Given the description of an element on the screen output the (x, y) to click on. 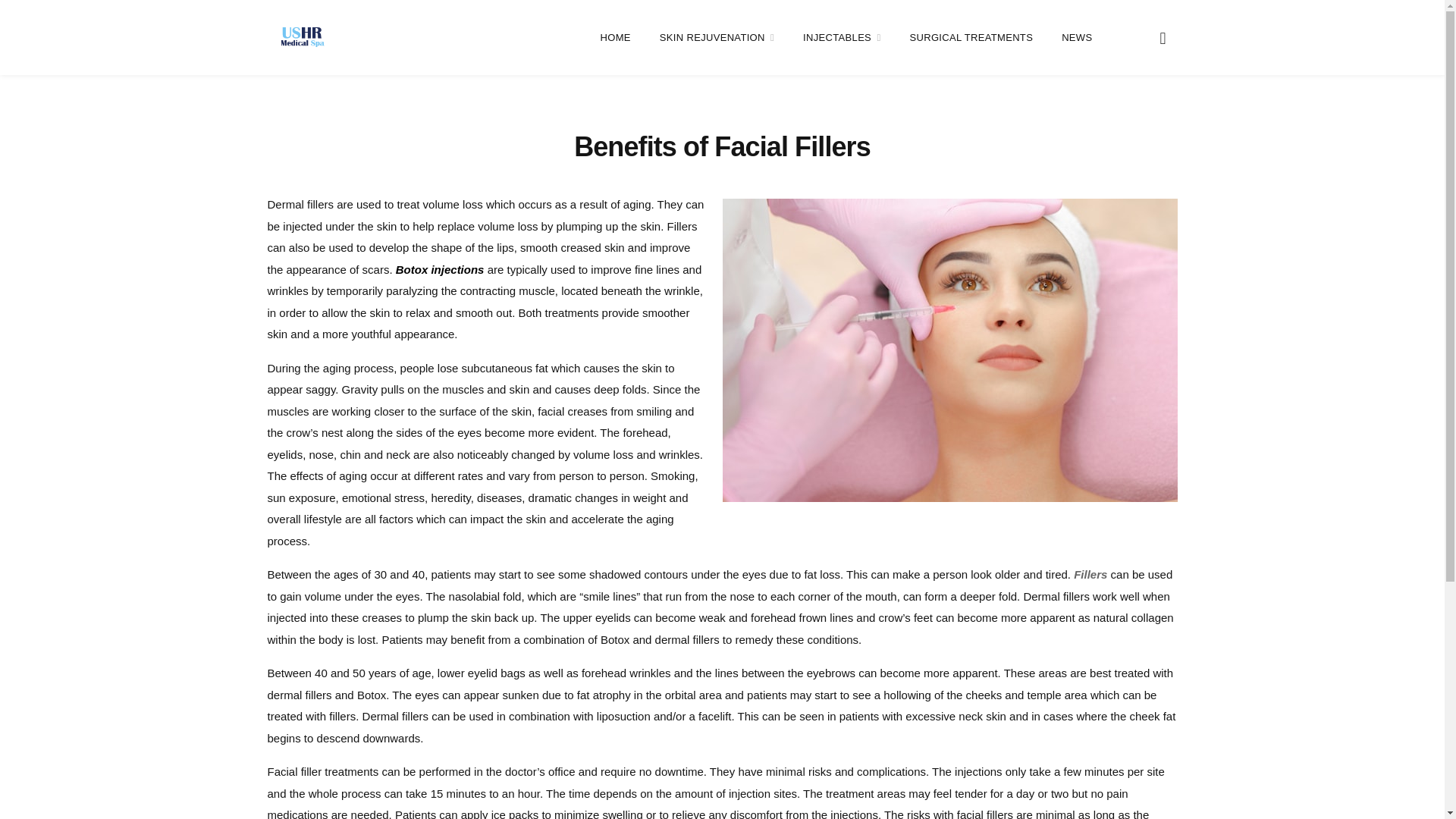
Search (1162, 36)
Skin Rejuvenation (716, 37)
Injectables (841, 37)
HOME (614, 37)
Home (614, 37)
News (1076, 37)
INJECTABLES (841, 37)
NEWS (1076, 37)
Botox injections (440, 269)
Fillers (1090, 574)
SURGICAL TREATMENTS (970, 37)
SKIN REJUVENATION (716, 37)
Surgical Treatments (970, 37)
